Given the description of an element on the screen output the (x, y) to click on. 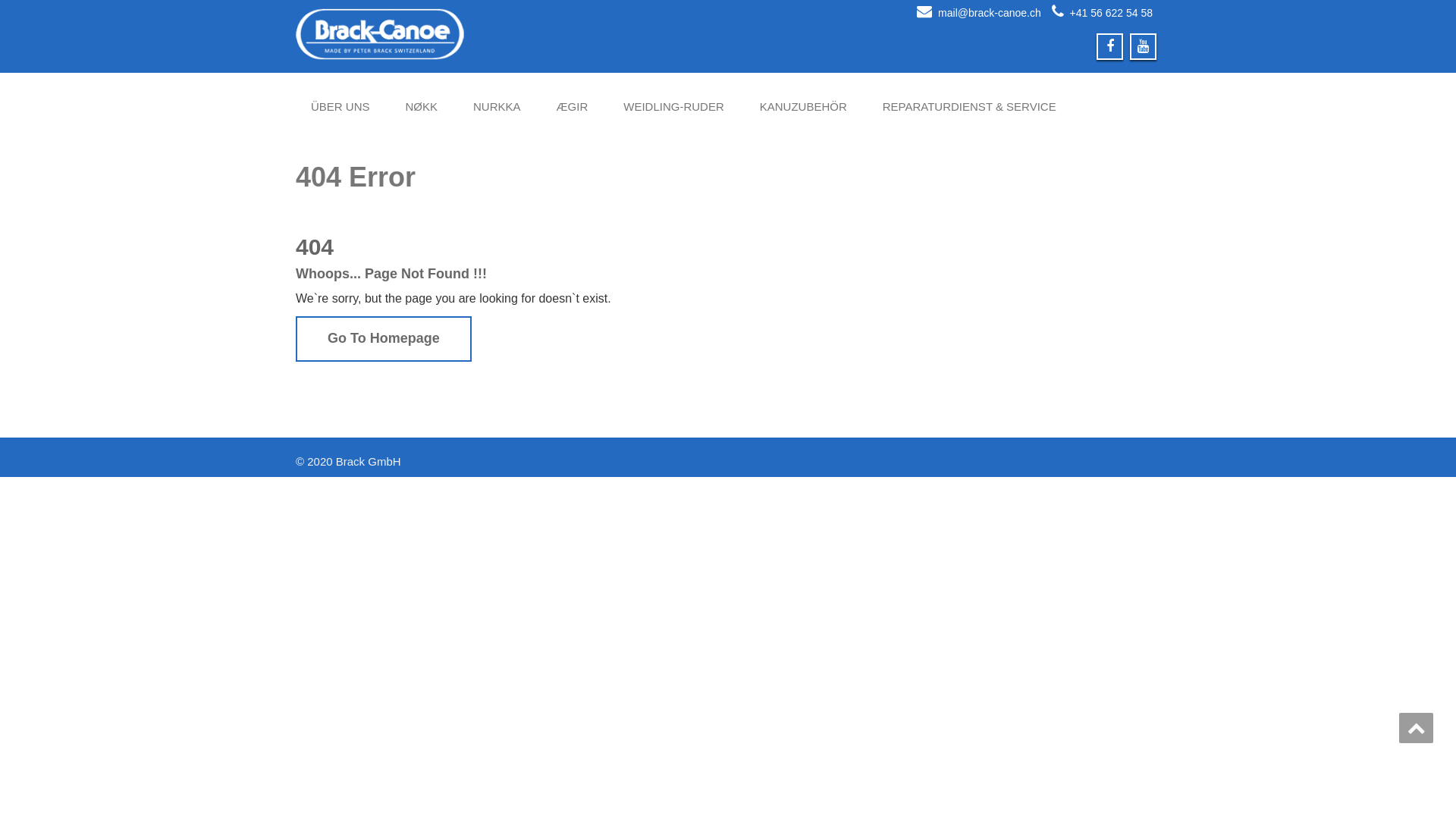
mail@brack-canoe.ch Element type: text (989, 12)
Brack Canoe Element type: hover (505, 33)
WEIDLING-RUDER Element type: text (673, 106)
Go To Homepage Element type: text (383, 337)
REPARATURDIENST & SERVICE Element type: text (969, 106)
Go Top Element type: hover (1416, 727)
+41 56 622 54 58 Element type: text (1111, 12)
Go To Homepage Element type: text (383, 338)
NURKKA Element type: text (497, 106)
